Given the description of an element on the screen output the (x, y) to click on. 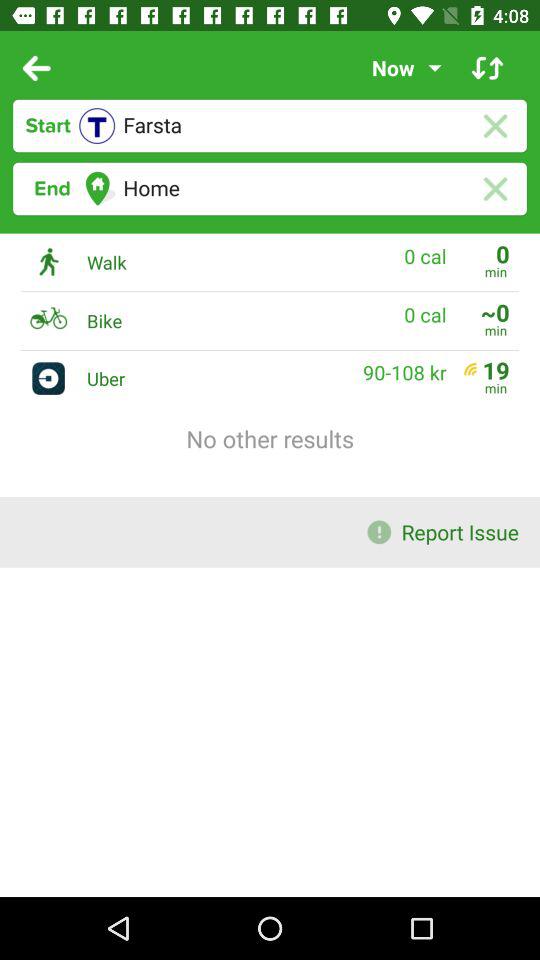
refresh (487, 68)
